Given the description of an element on the screen output the (x, y) to click on. 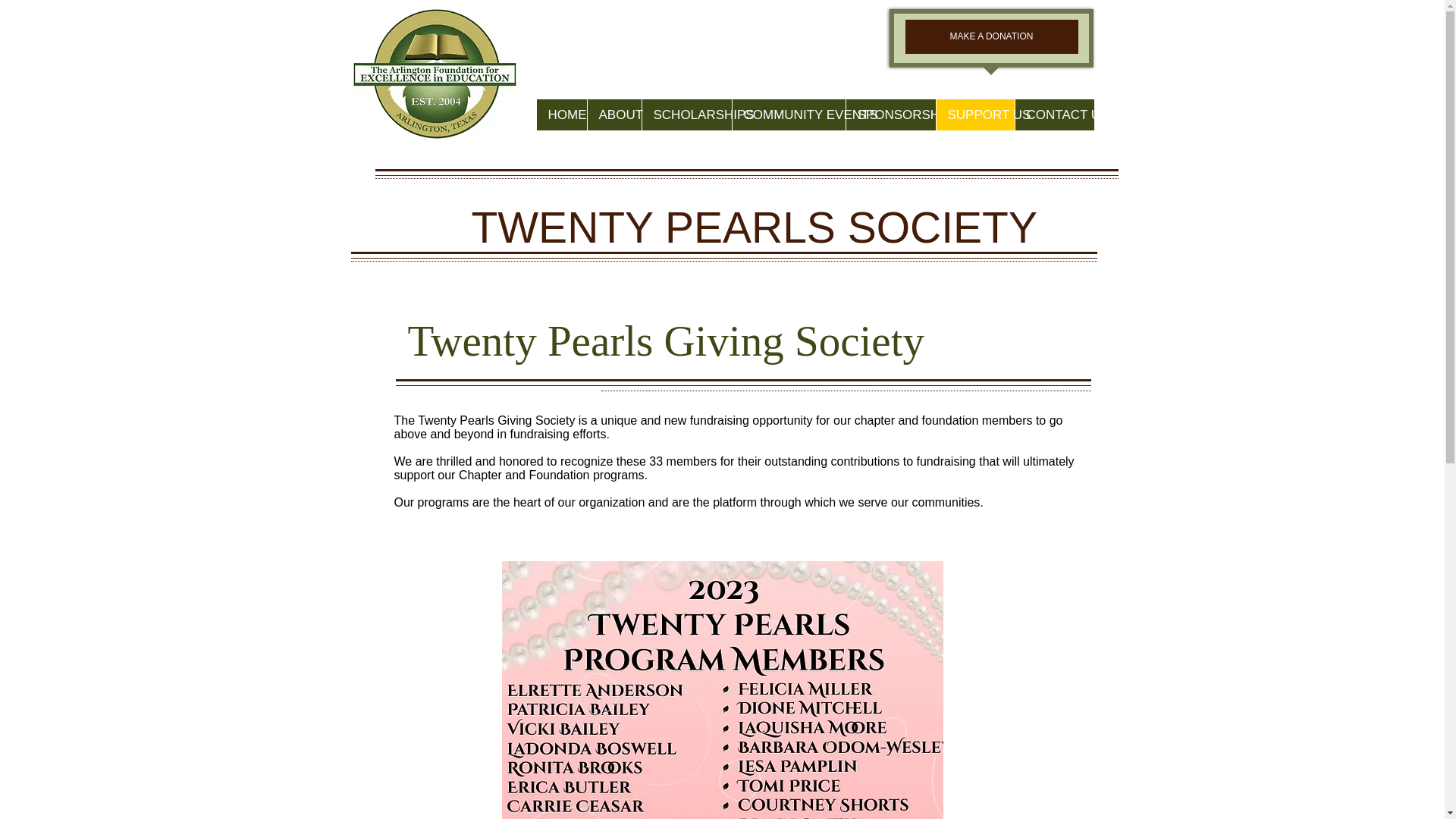
ABOUT (614, 114)
COMMUNITY EVENTS (787, 114)
CONTACT US (1054, 114)
MAKE A DONATION (991, 36)
SUPPORT US (975, 114)
HOME (561, 114)
SPONSORSHIPS (889, 114)
